Given the description of an element on the screen output the (x, y) to click on. 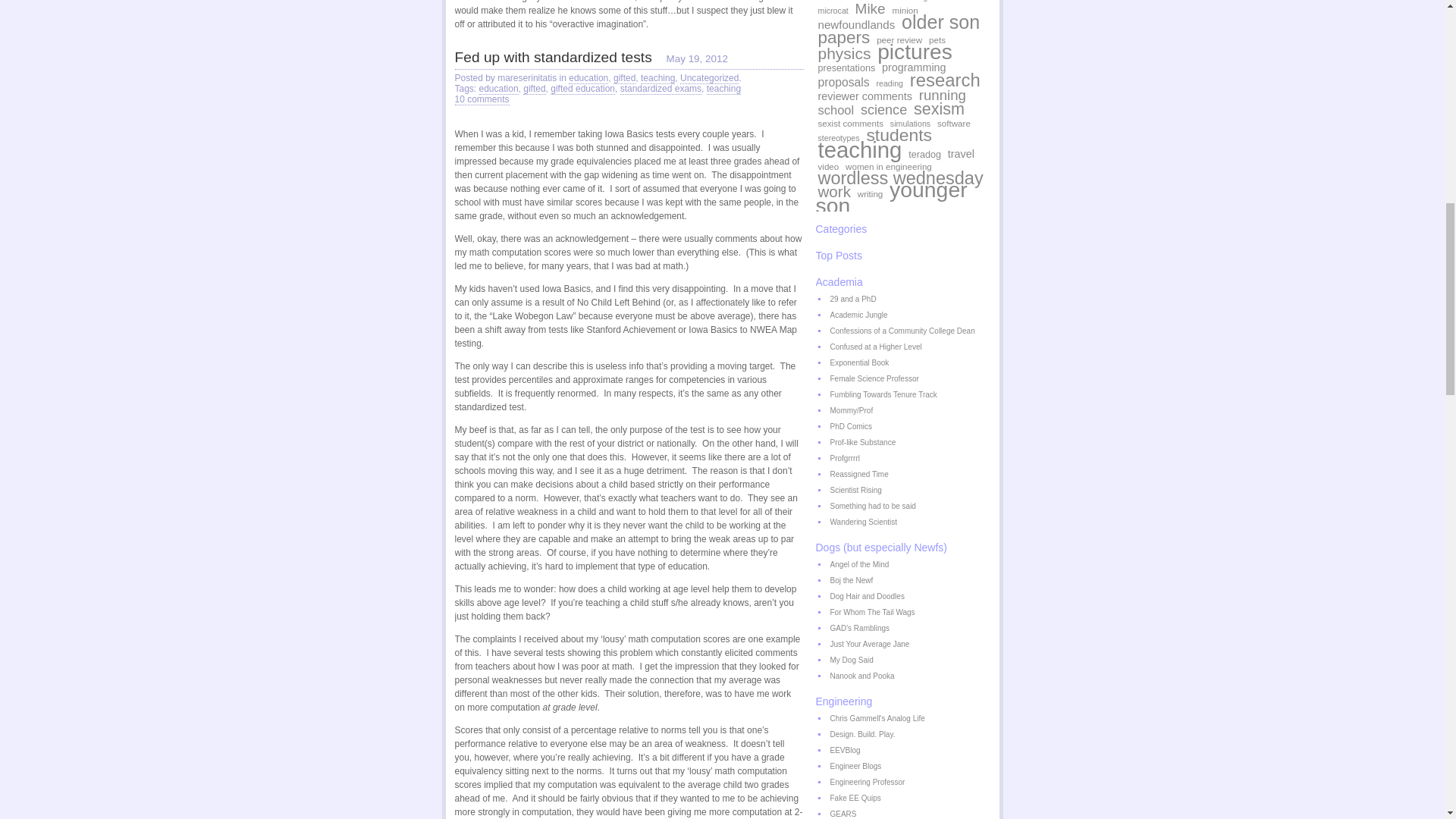
gifted (623, 78)
10 comments (481, 99)
standardized exams (660, 89)
education (588, 78)
Uncategorized (708, 78)
gifted education (582, 89)
gifted (533, 89)
education (498, 89)
teaching (723, 89)
Fed up with standardized tests (553, 57)
teaching (657, 78)
